Given the description of an element on the screen output the (x, y) to click on. 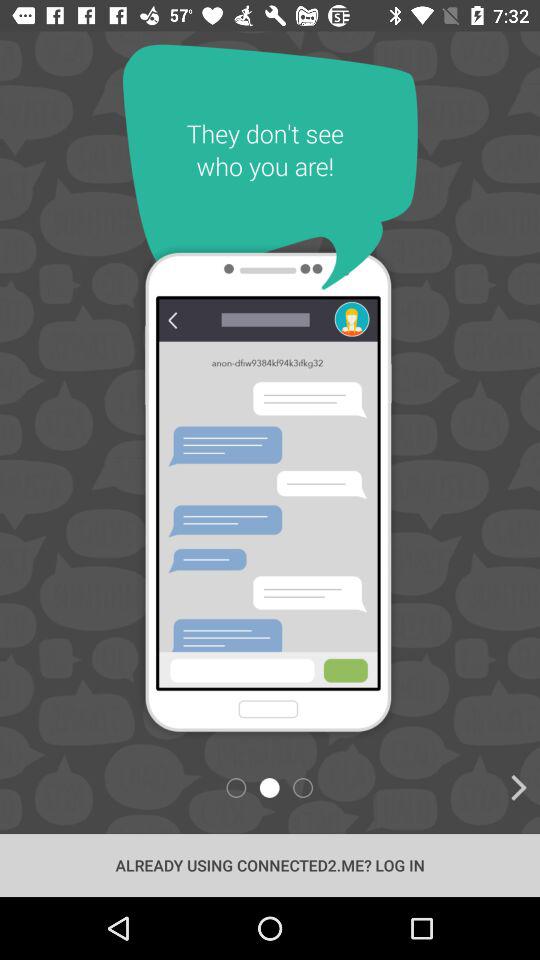
choose icon at the bottom left corner (116, 787)
